Given the description of an element on the screen output the (x, y) to click on. 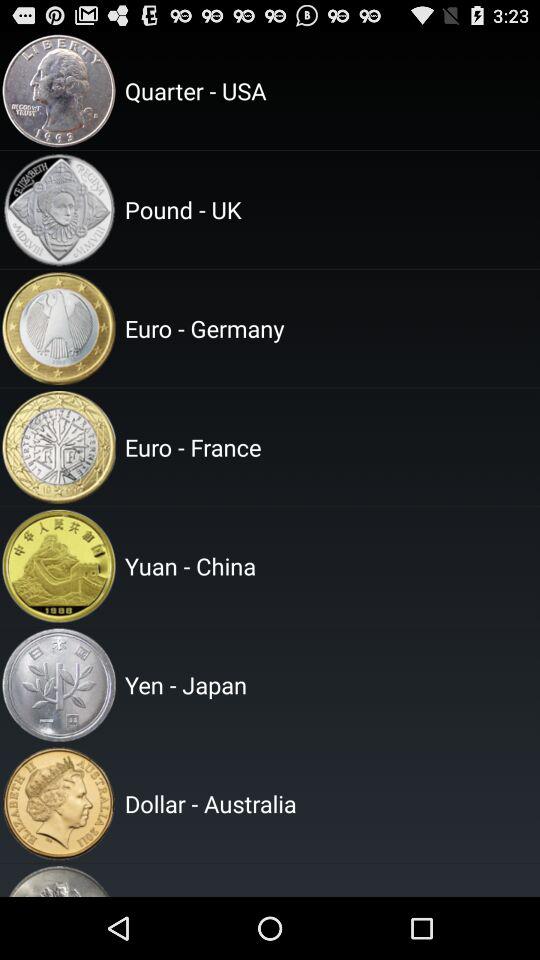
tap yen - japan (329, 684)
